Given the description of an element on the screen output the (x, y) to click on. 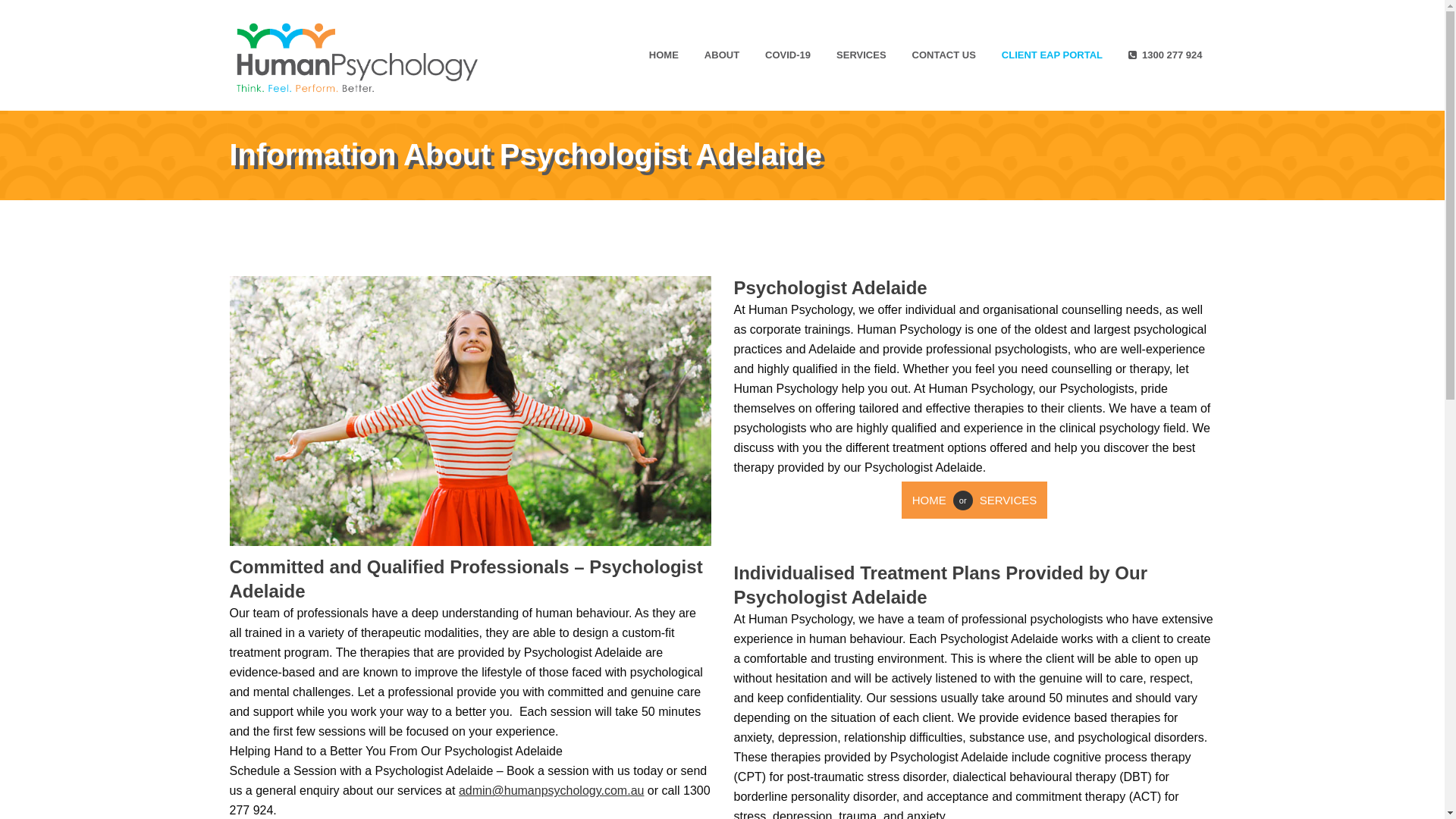
1300 277 924 Element type: text (1165, 55)
HOME Element type: text (932, 499)
HOME Element type: text (663, 55)
CLIENT EAP PORTAL Element type: text (1051, 55)
SERVICES Element type: text (1005, 499)
ABOUT Element type: text (721, 55)
admin@humanpsychology.com.au Element type: text (551, 790)
CONTACT US Element type: text (943, 55)
COVID-19 Element type: text (787, 55)
SERVICES Element type: text (861, 55)
